Given the description of an element on the screen output the (x, y) to click on. 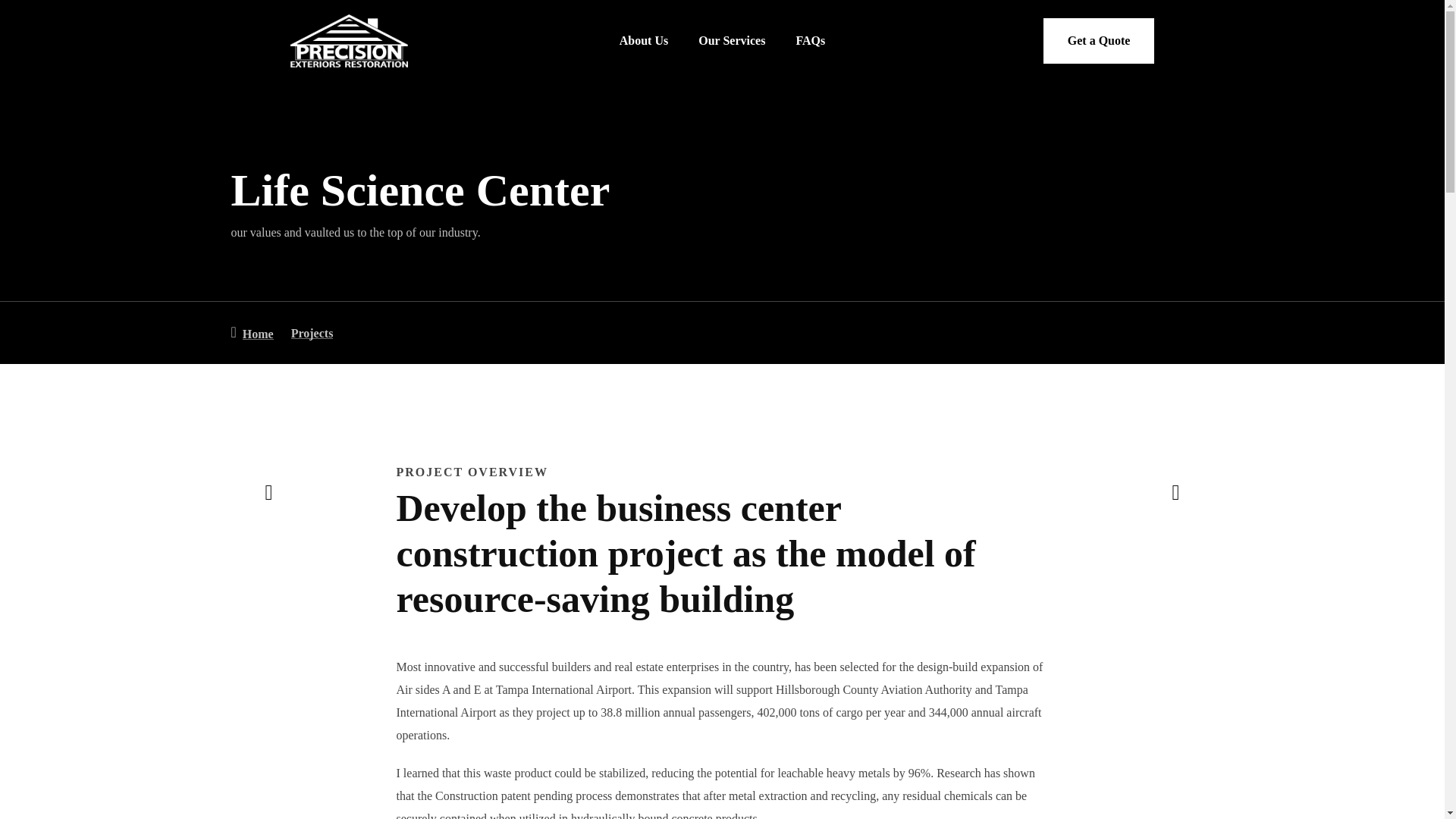
About Us (644, 40)
FAQs (809, 40)
Projects (309, 333)
	Home building renovation (1174, 492)
Precision Exteriors Illinois (251, 331)
Get a Quote (1098, 40)
Home (251, 331)
Our Services (731, 40)
